Given the description of an element on the screen output the (x, y) to click on. 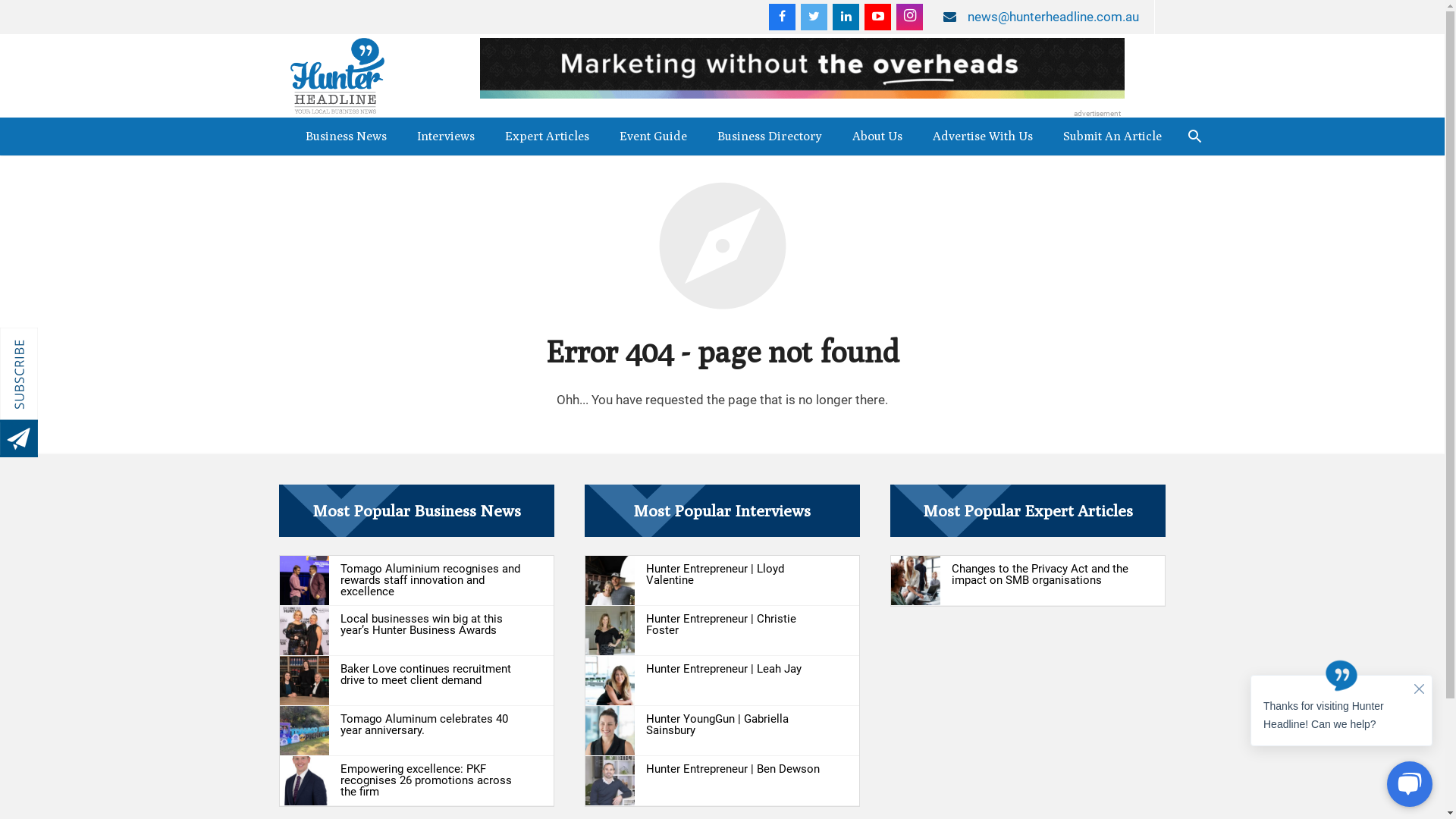
news@hunterheadline.com.au Element type: text (1053, 16)
Business Directory Element type: text (769, 136)
Advertise With Us Element type: text (982, 136)
Business News Element type: text (345, 136)
Submit An Article Element type: text (1112, 136)
Event Guide Element type: text (652, 136)
About Us Element type: text (877, 136)
Expert Articles Element type: text (546, 136)
Interviews Element type: text (445, 136)
